Given the description of an element on the screen output the (x, y) to click on. 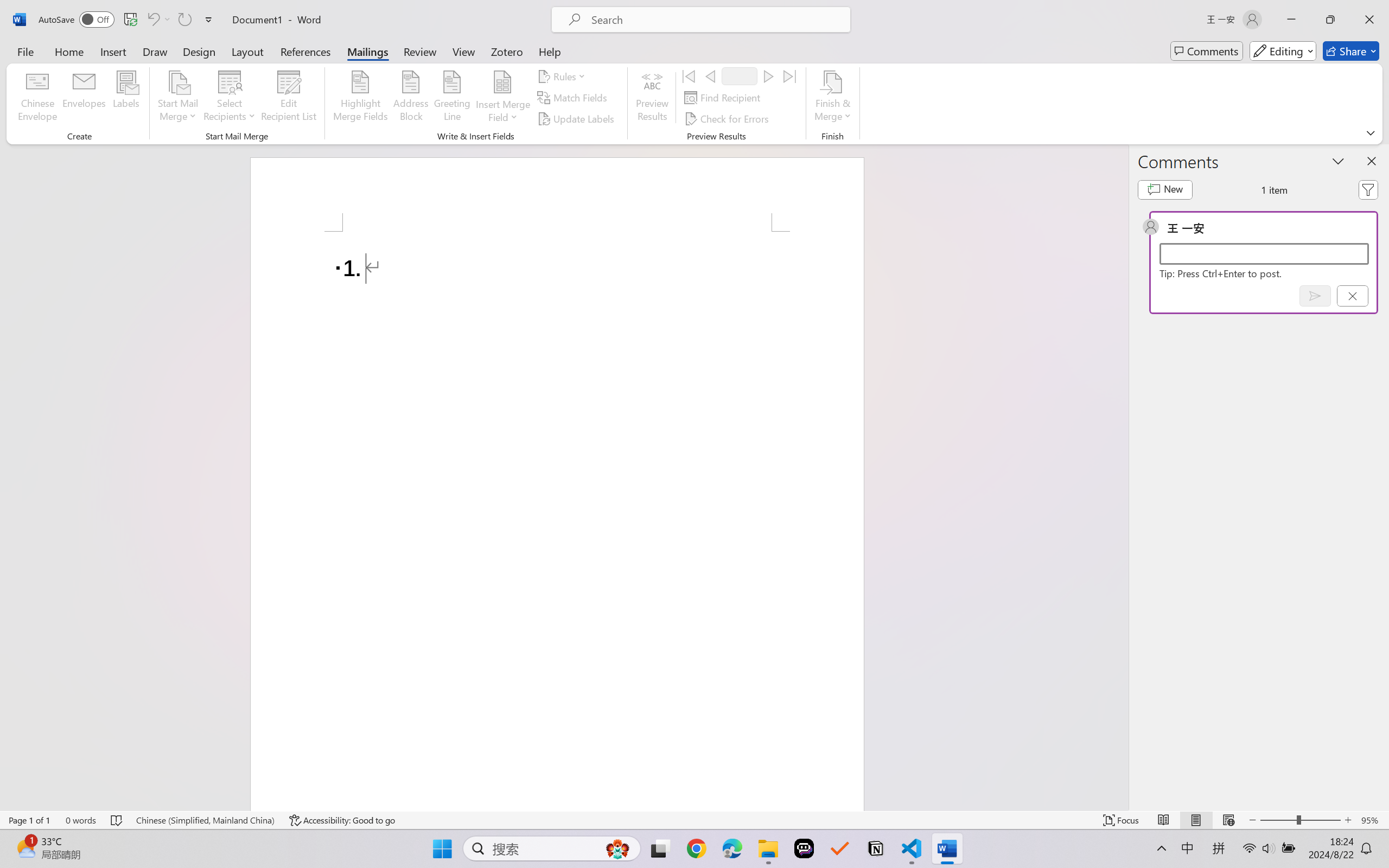
Center (346, 71)
Decrease Font Size (296, 52)
Reset (131, 62)
Find... (722, 46)
Line Spacing (413, 52)
